Given the description of an element on the screen output the (x, y) to click on. 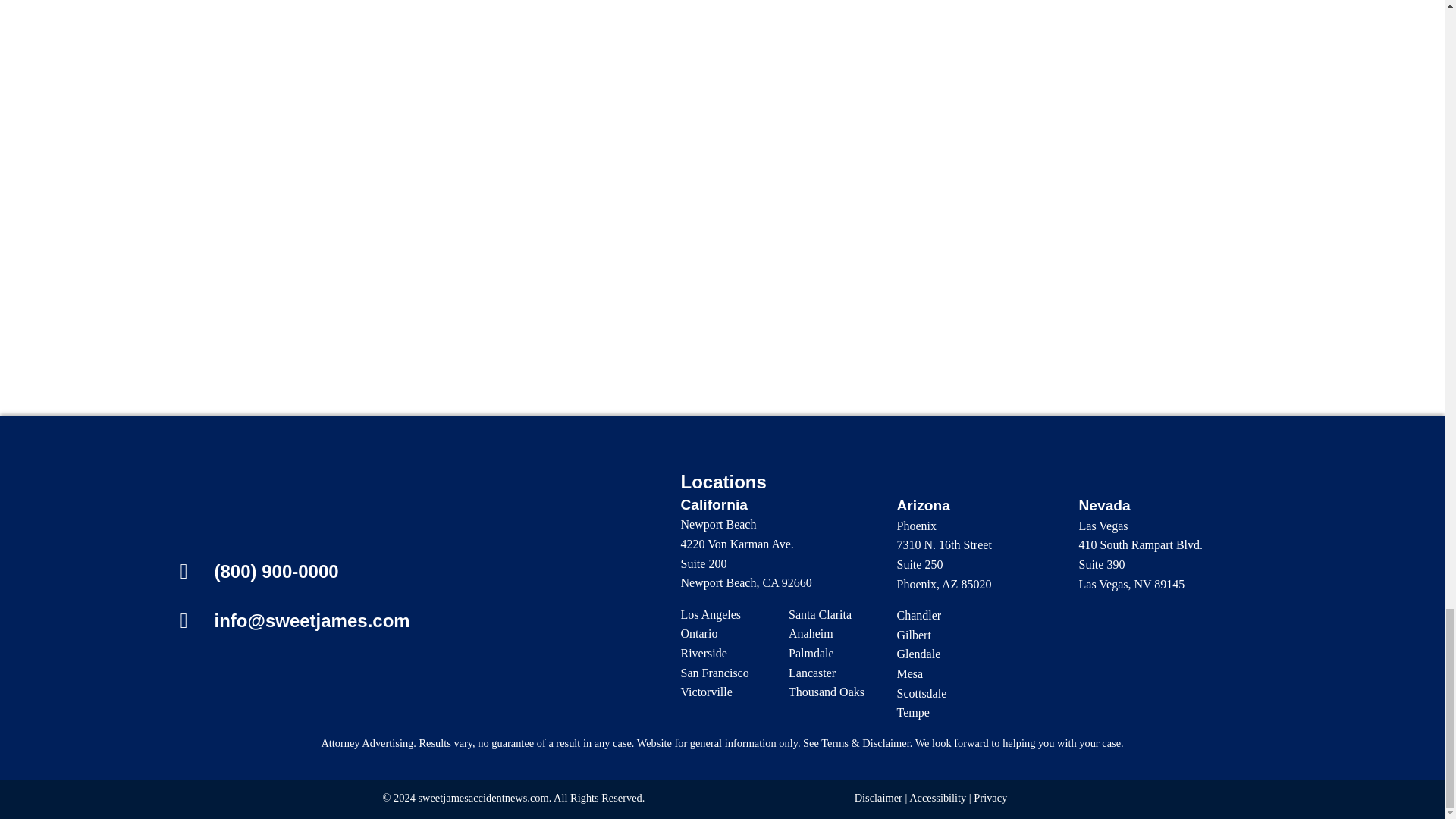
San Francisco (715, 672)
Accessibility (937, 797)
Disclaimer (878, 797)
Las Vegas (1102, 525)
Phoenix (916, 525)
Los Angeles (711, 614)
Privacy (990, 797)
Victorville (706, 691)
Newport Beach (719, 523)
